Given the description of an element on the screen output the (x, y) to click on. 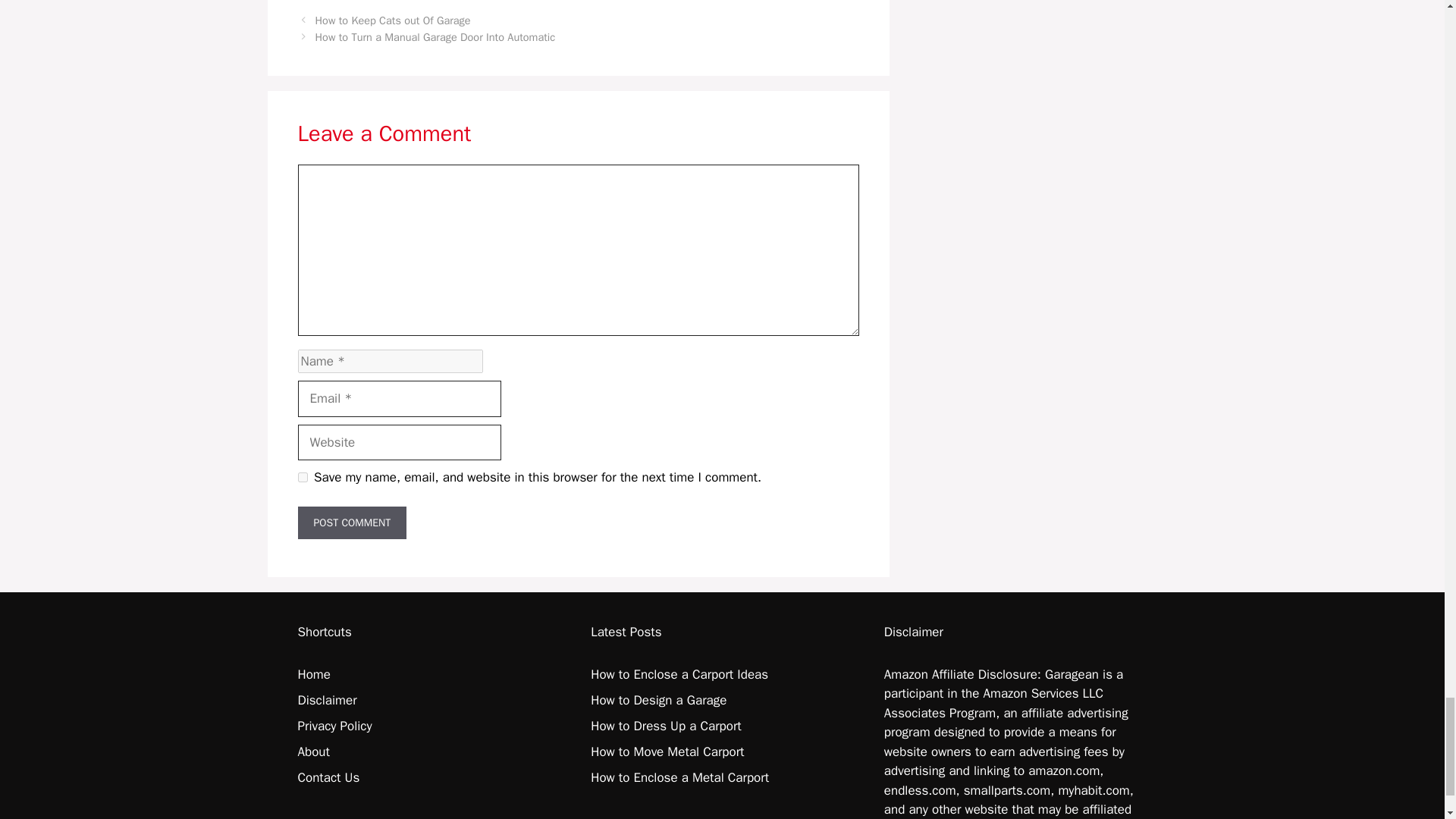
About (313, 751)
Privacy Policy (334, 725)
yes (302, 477)
How to Enclose a Carport Ideas (679, 674)
How to Enclose a Metal Carport (679, 777)
Post Comment (351, 522)
Post Comment (351, 522)
Disclaimer (326, 700)
How to Keep Cats out Of Garage (392, 20)
How to Dress Up a Carport (666, 725)
